Given the description of an element on the screen output the (x, y) to click on. 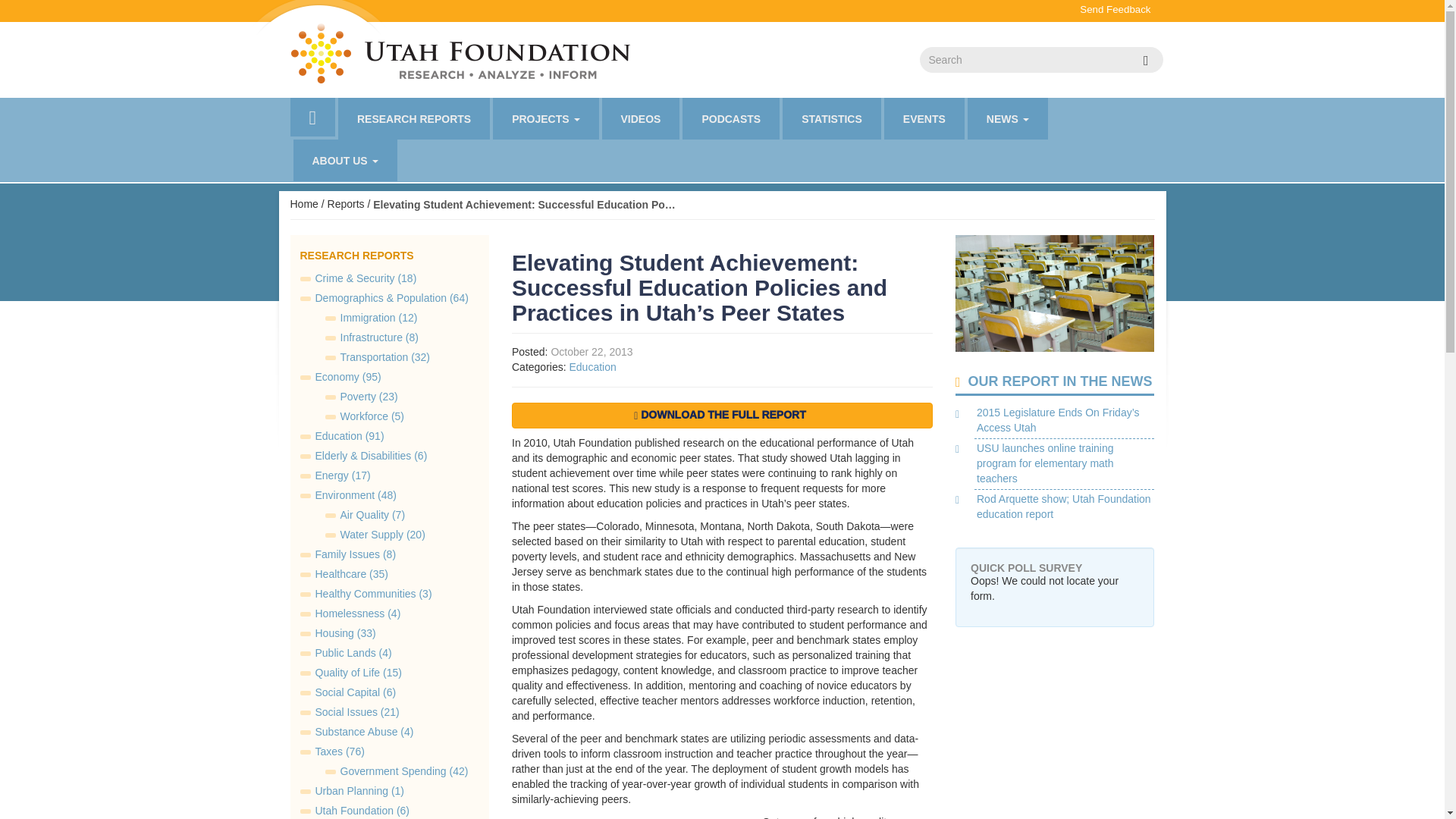
HOME (311, 116)
PODCASTS (730, 118)
VIDEOS (640, 118)
Search (1145, 59)
Send Feedback (1115, 9)
RESEARCH REPORTS (413, 118)
Rod Arquette show; Utah Foundation education report (1064, 506)
STATISTICS (831, 118)
PROJECTS (545, 118)
